Given the description of an element on the screen output the (x, y) to click on. 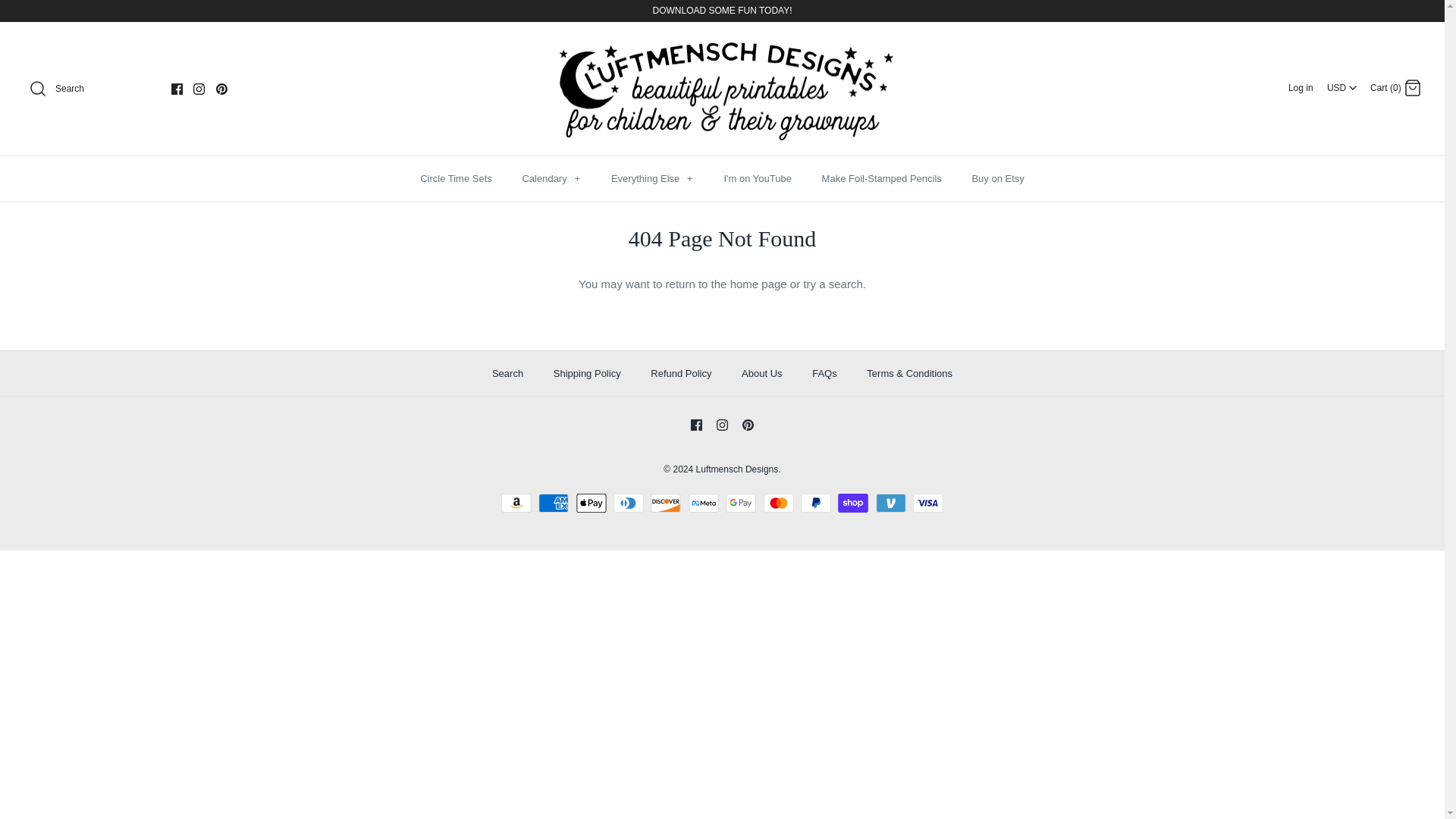
PayPal (815, 502)
I'm on YouTube (757, 178)
Cart (1412, 87)
Instagram (199, 89)
Pinterest (748, 424)
try a search (832, 283)
Buy on Etsy (997, 178)
Meta Pay (703, 502)
Facebook (695, 424)
Circle Time Sets (455, 178)
